Given the description of an element on the screen output the (x, y) to click on. 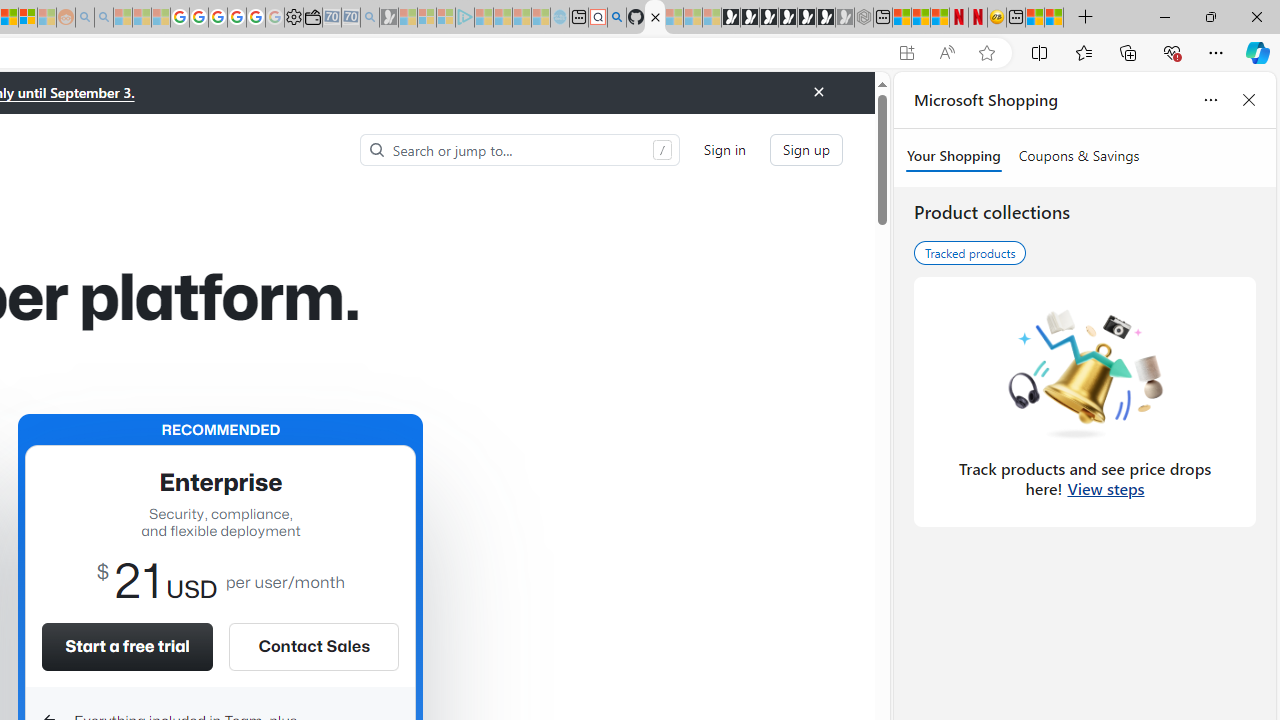
Wildlife - MSN (1035, 17)
Sign up (806, 149)
Start a free trial (127, 646)
